Given the description of an element on the screen output the (x, y) to click on. 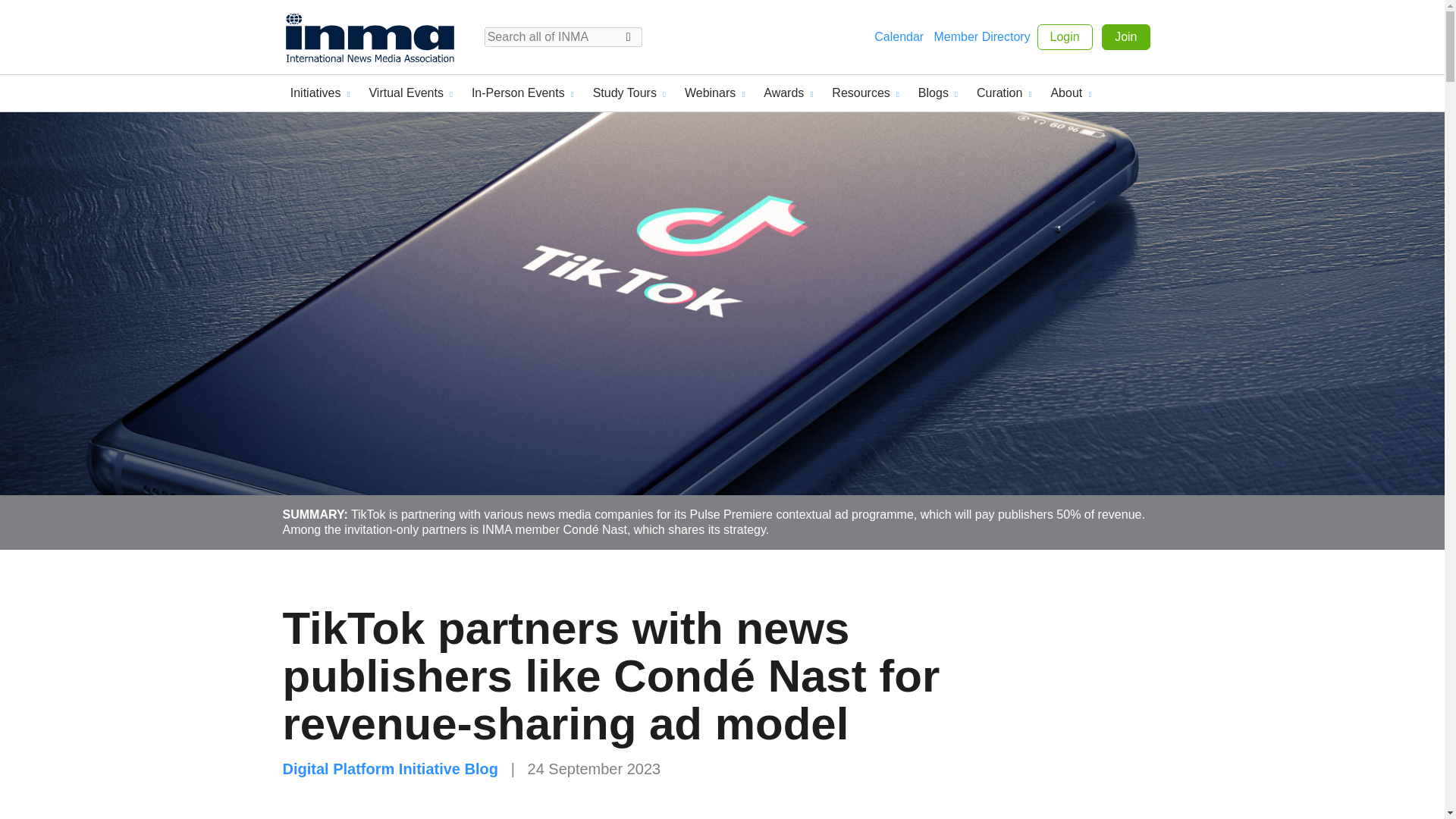
Calendar (899, 36)
Virtual Events (410, 93)
Join (1126, 36)
Study Tours (628, 93)
Initiatives (319, 93)
Login (1064, 36)
Member Directory (982, 36)
In-Person Events (522, 93)
